Given the description of an element on the screen output the (x, y) to click on. 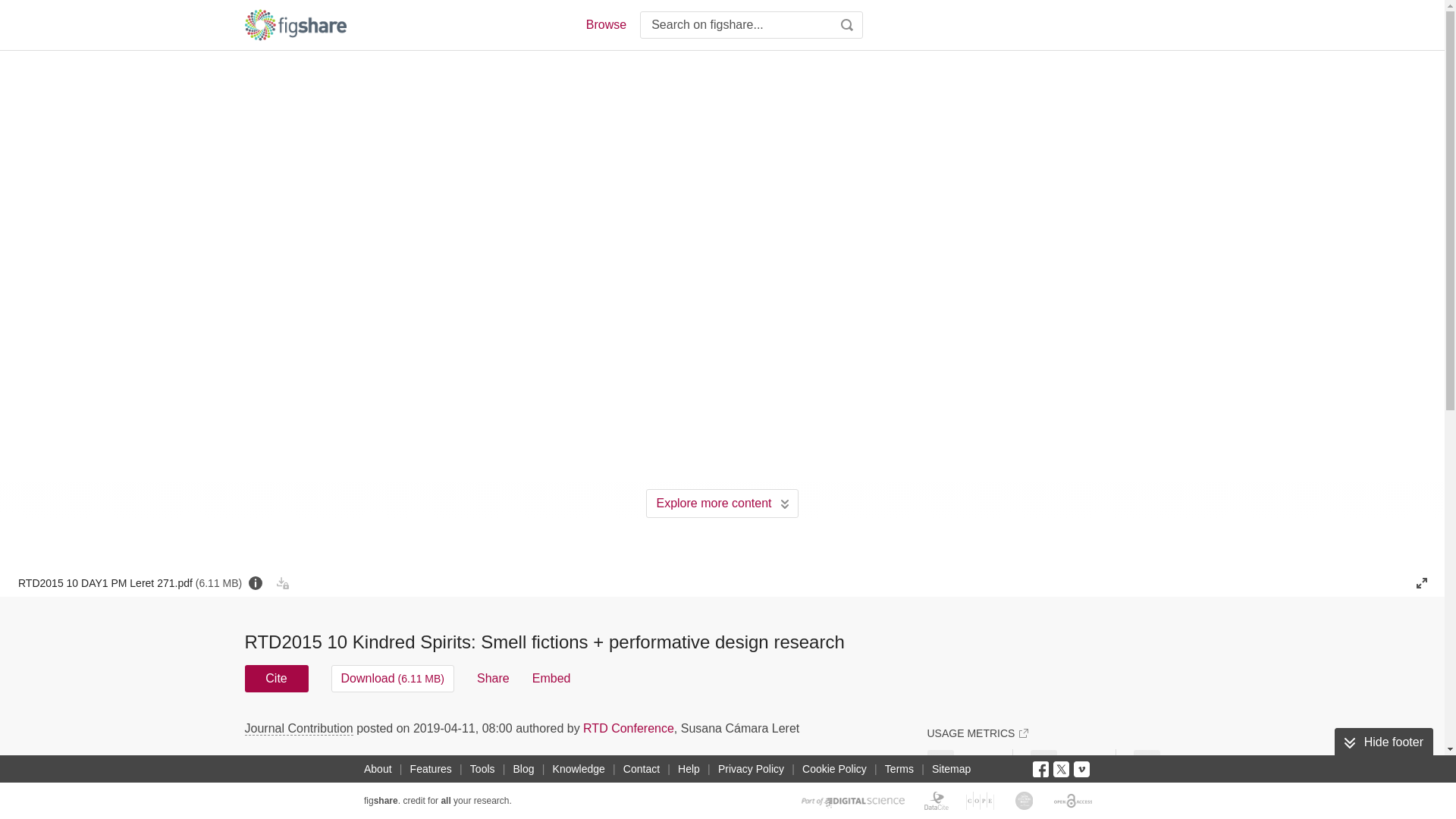
DataCite (936, 800)
Embed (551, 678)
Knowledge (579, 769)
COPE (980, 800)
Contact (640, 769)
Digital Science (853, 800)
RTD Conference (628, 727)
Share (493, 678)
USAGE METRICS (976, 732)
Cite (275, 678)
Tools (482, 769)
Help (688, 769)
Explore more content (721, 502)
Features (431, 769)
